Given the description of an element on the screen output the (x, y) to click on. 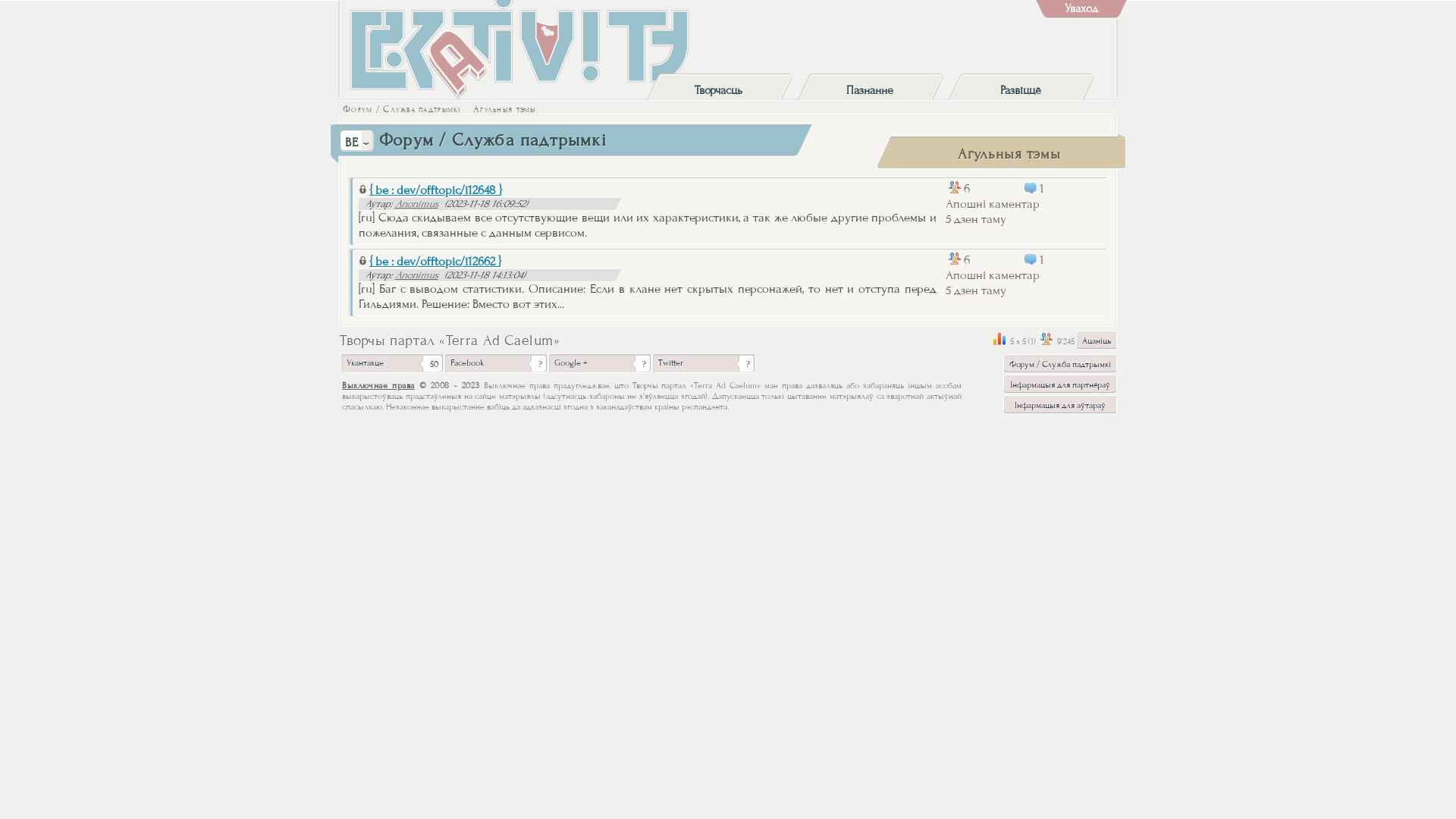
Anonimus Element type: text (414, 275)
Facebook
? Element type: text (495, 363)
Anonimus Element type: text (414, 203)
Google +
? Element type: text (599, 363)
Twitter
? Element type: text (703, 363)
